Given the description of an element on the screen output the (x, y) to click on. 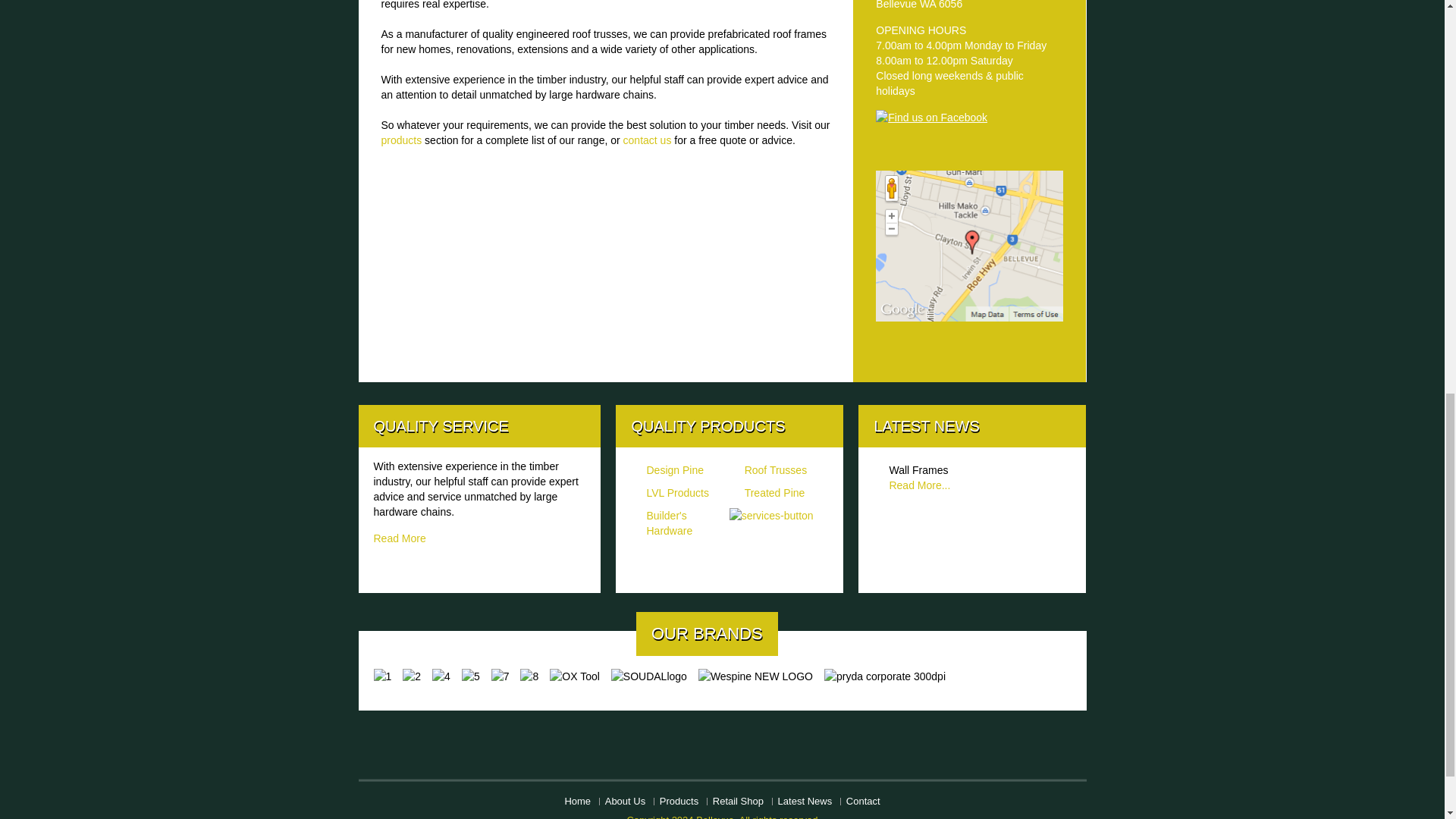
Retail Shop (737, 801)
contact us (647, 140)
products (401, 140)
Read More (398, 538)
About Us (625, 801)
Read More... (919, 485)
Products (678, 801)
Latest News (804, 801)
Contact (862, 801)
Design Pine (674, 469)
Roof Trusses (775, 469)
Builder's Hardware (669, 523)
LVL Products (677, 492)
Treated Pine (774, 492)
Home (577, 801)
